Given the description of an element on the screen output the (x, y) to click on. 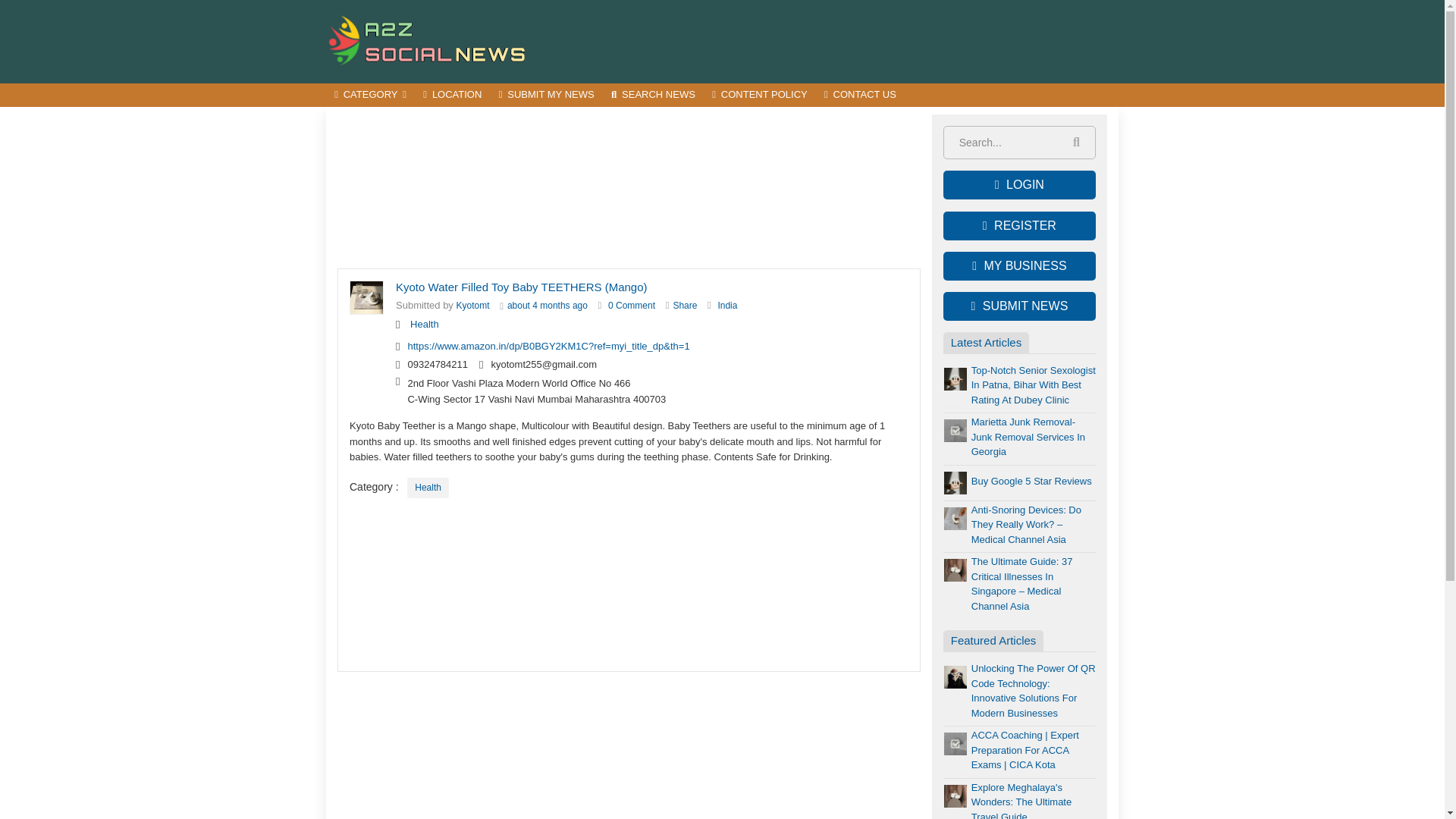
India (726, 305)
Share (684, 305)
MY BUSINESS (1019, 265)
Health (424, 324)
SEARCH NEWS (652, 95)
Health (424, 324)
Advertisement (628, 585)
about 4 months ago (547, 305)
Advertisement (628, 187)
Health (427, 487)
LOCATION (451, 95)
CONTACT US (859, 95)
0 Comment (631, 305)
